Given the description of an element on the screen output the (x, y) to click on. 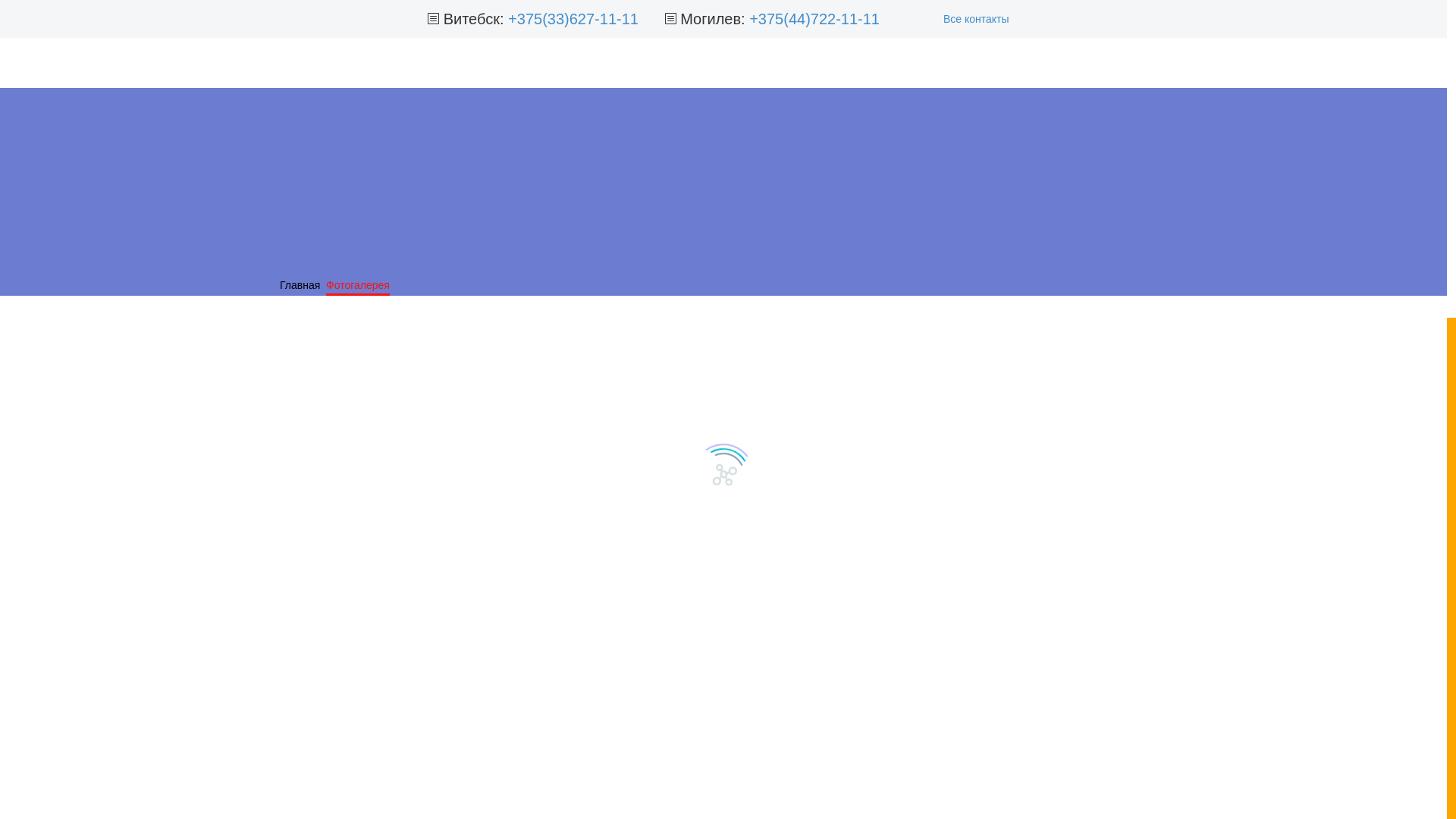
+375(33)627-11-11 Element type: text (573, 18)
+375(44)722-11-11 Element type: text (814, 18)
